Given the description of an element on the screen output the (x, y) to click on. 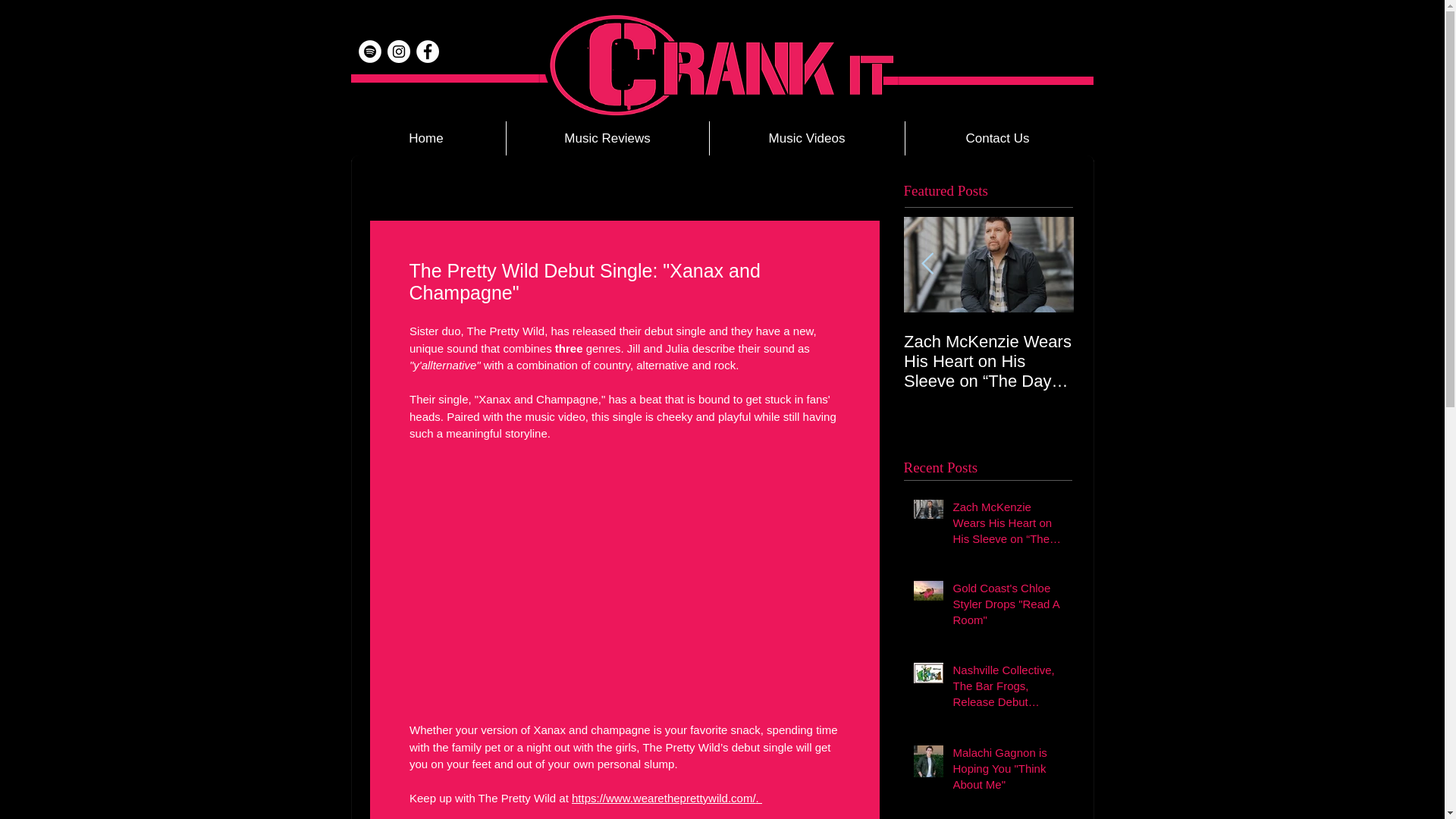
Music Reviews (606, 138)
Home (426, 138)
Contact Us (996, 138)
Music Videos (805, 138)
Gold Coast's Chloe Styler Drops "Read A Room" (1158, 361)
